Given the description of an element on the screen output the (x, y) to click on. 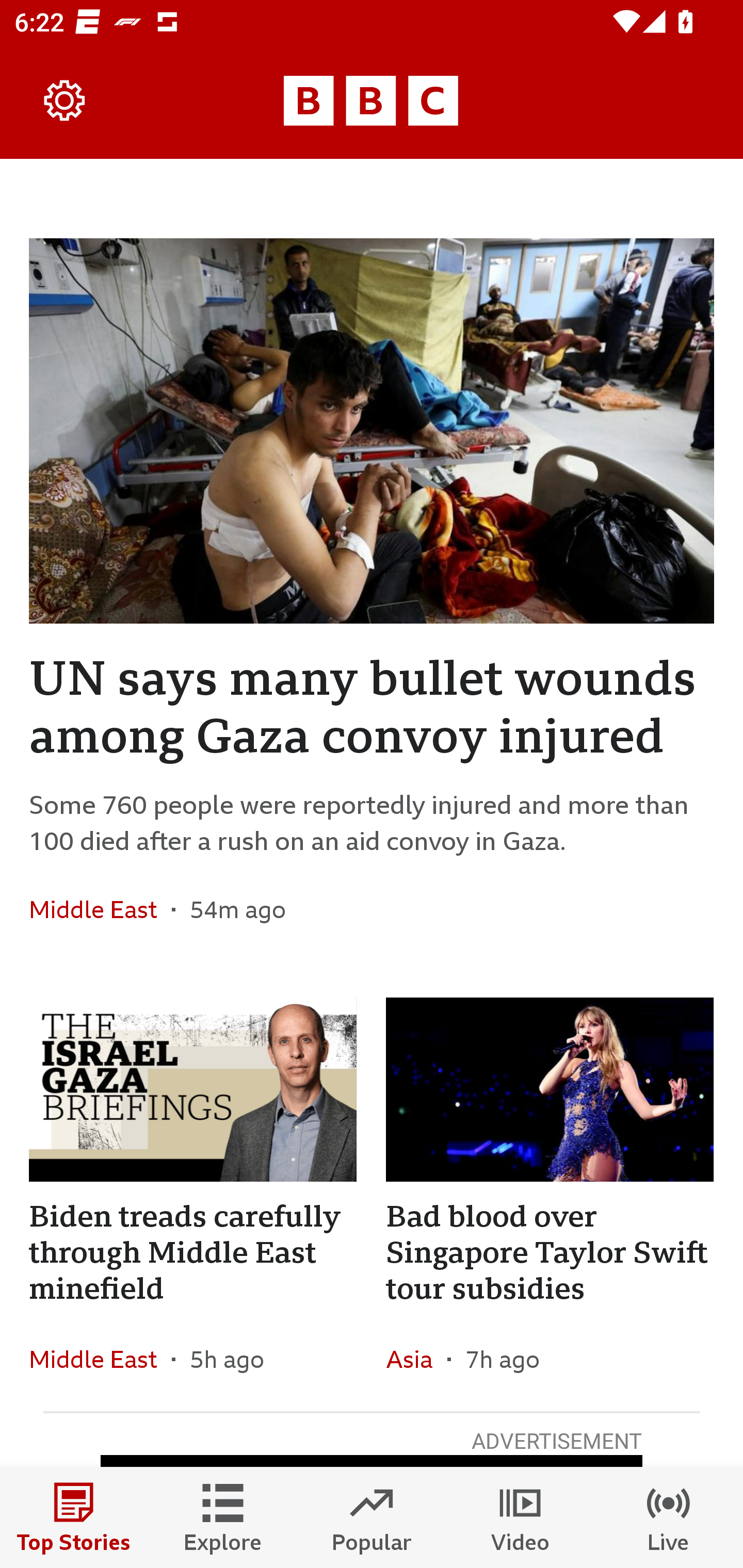
Settings (64, 100)
Middle East In the section Middle East (99, 909)
Middle East In the section Middle East (99, 1359)
Asia In the section Asia (416, 1359)
Explore (222, 1517)
Popular (371, 1517)
Video (519, 1517)
Live (668, 1517)
